Given the description of an element on the screen output the (x, y) to click on. 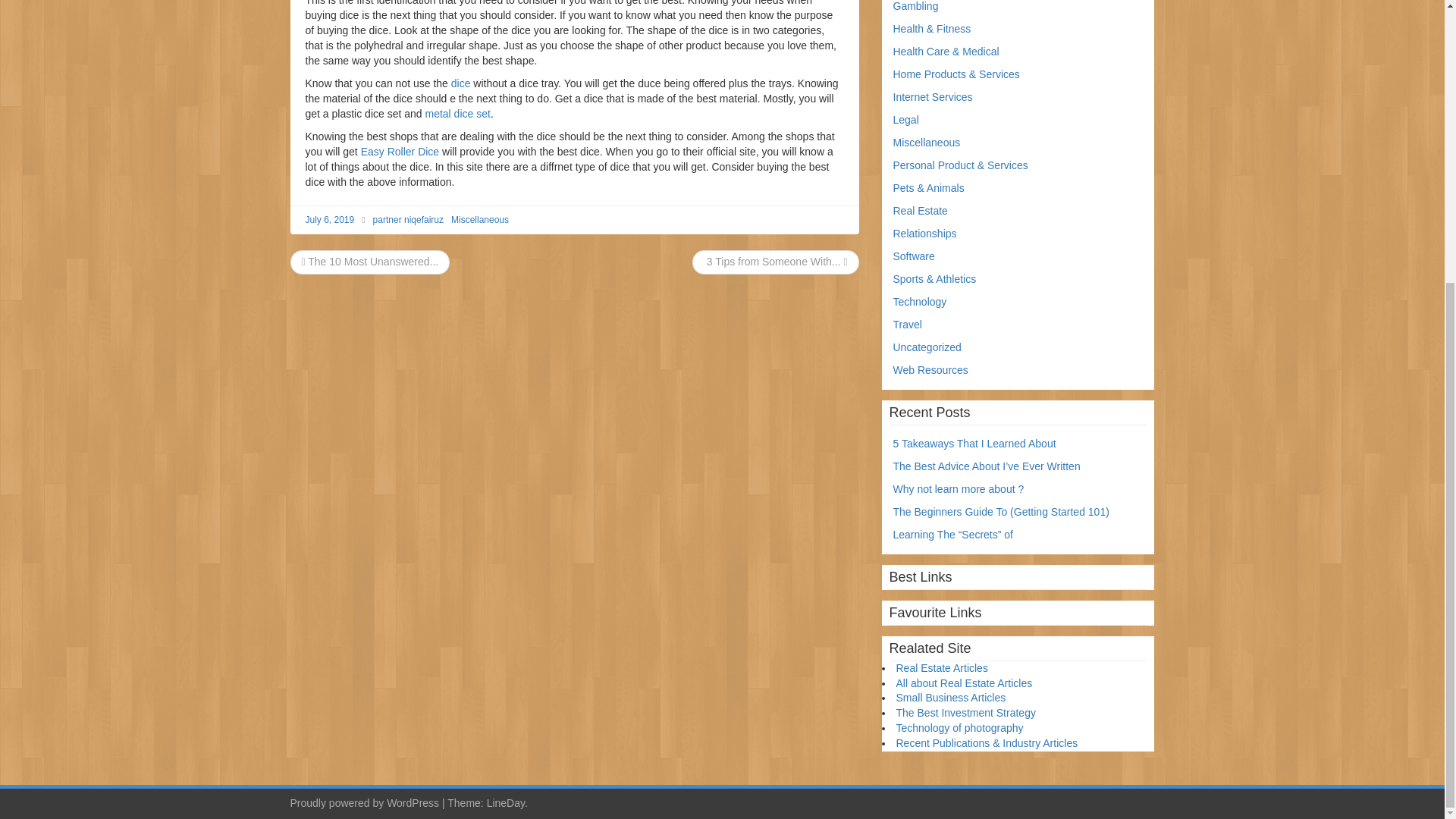
dice (460, 82)
5 Takeaways That I Learned About (975, 443)
Real Estate (920, 210)
Uncategorized (926, 346)
Relationships (924, 233)
Web Resources (930, 369)
July 6, 2019 (328, 219)
Easy Roller Dice (400, 151)
metal dice set (457, 113)
Gambling (916, 6)
Internet Services (932, 96)
 The 10 Most Unanswered... (370, 261)
Miscellaneous (926, 142)
Software (913, 256)
Travel (907, 324)
